Given the description of an element on the screen output the (x, y) to click on. 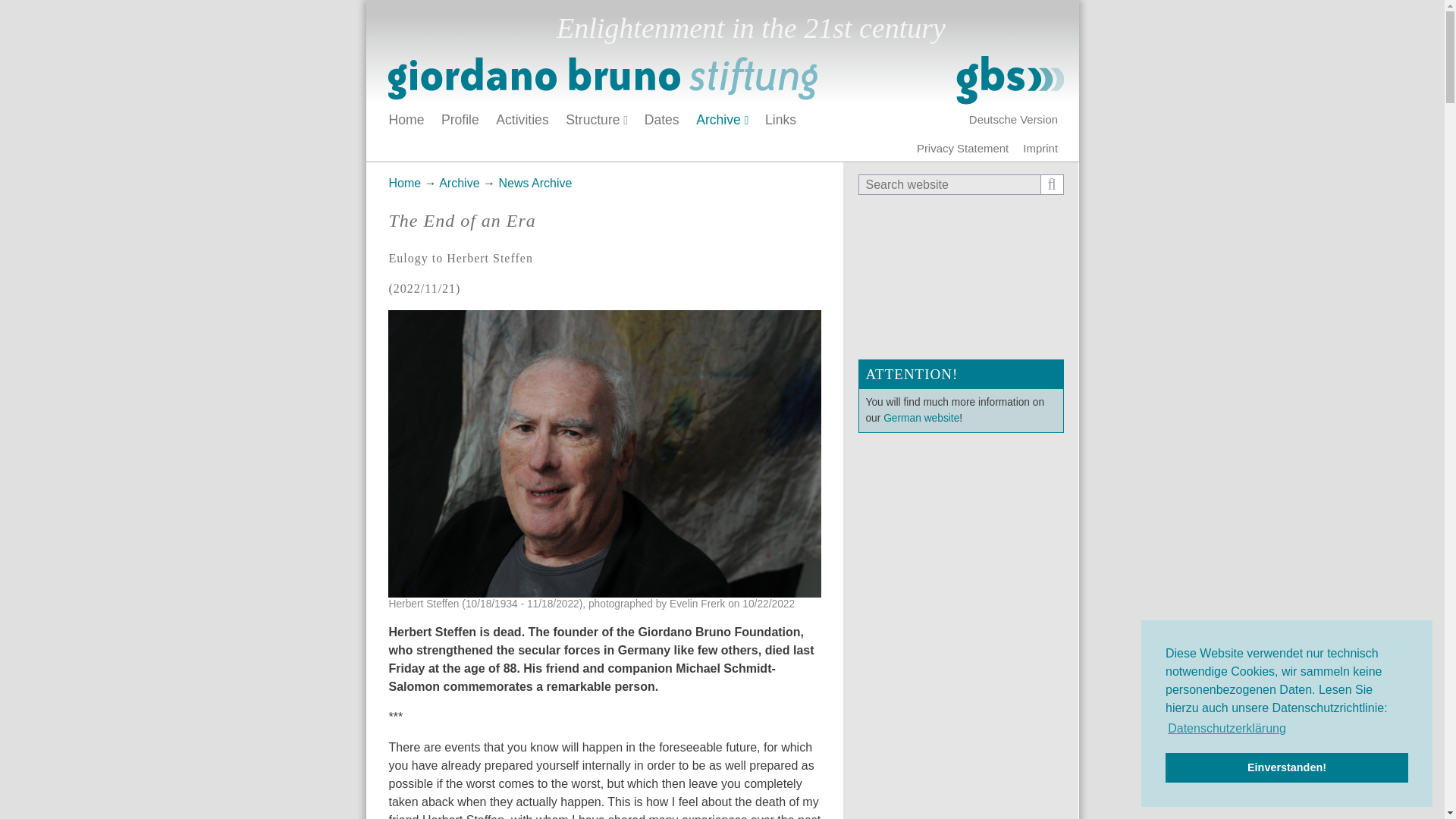
Deutsche Version (1012, 118)
Activities (521, 119)
Structure (596, 119)
Home (725, 80)
Home (605, 80)
Enter the terms you wish to search for. (949, 184)
Home (405, 119)
Profile (458, 119)
Einverstanden! (1286, 767)
